Given the description of an element on the screen output the (x, y) to click on. 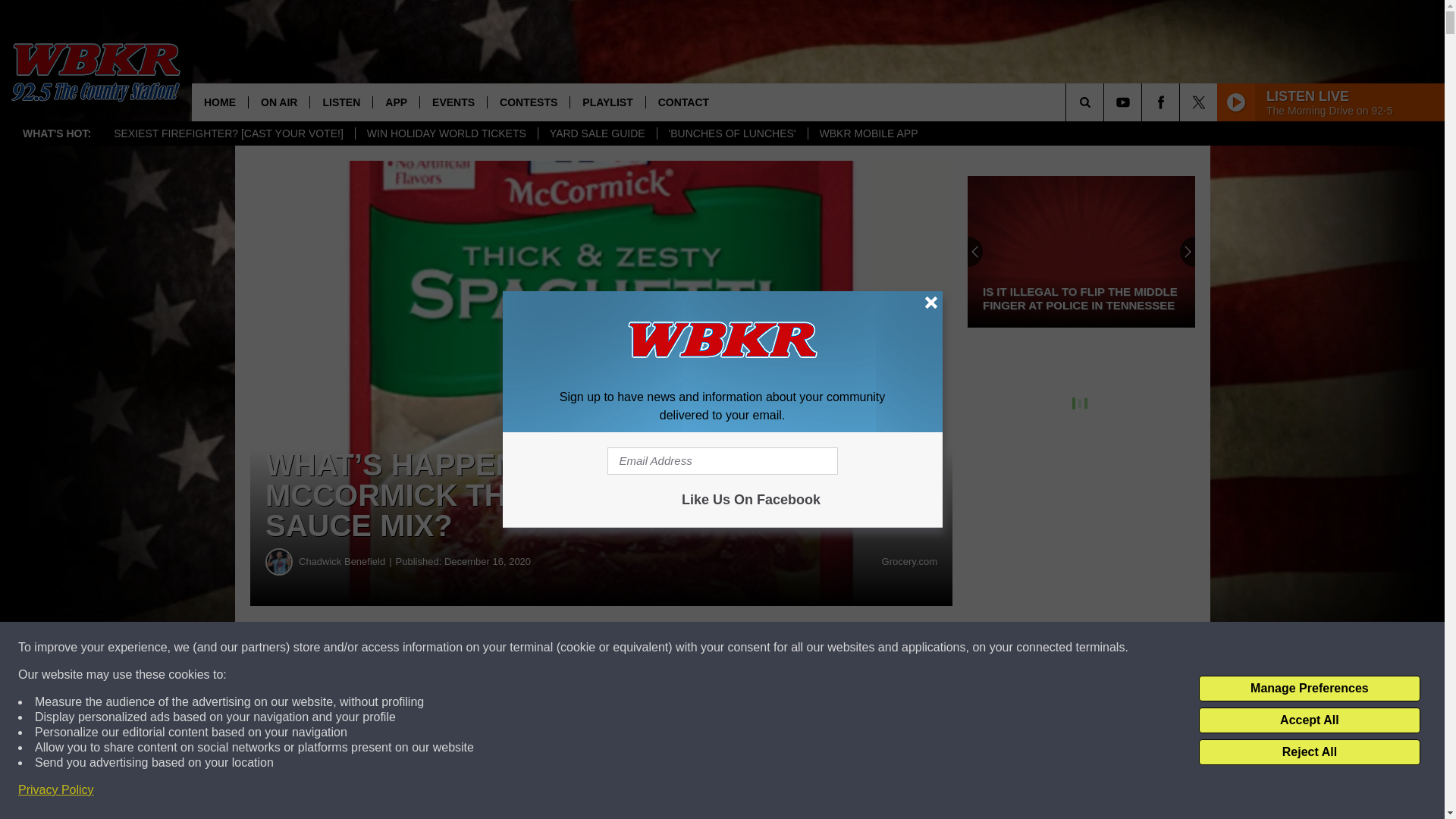
Email Address (722, 461)
ON AIR (277, 102)
APP (395, 102)
Share on Twitter (741, 647)
CONTACT (682, 102)
YARD SALE GUIDE (596, 133)
SEARCH (1106, 102)
HOME (219, 102)
SEARCH (1106, 102)
Manage Preferences (1309, 688)
'BUNCHES OF LUNCHES' (732, 133)
LISTEN (340, 102)
Reject All (1309, 751)
Share on Facebook (460, 647)
Privacy Policy (55, 789)
